Given the description of an element on the screen output the (x, y) to click on. 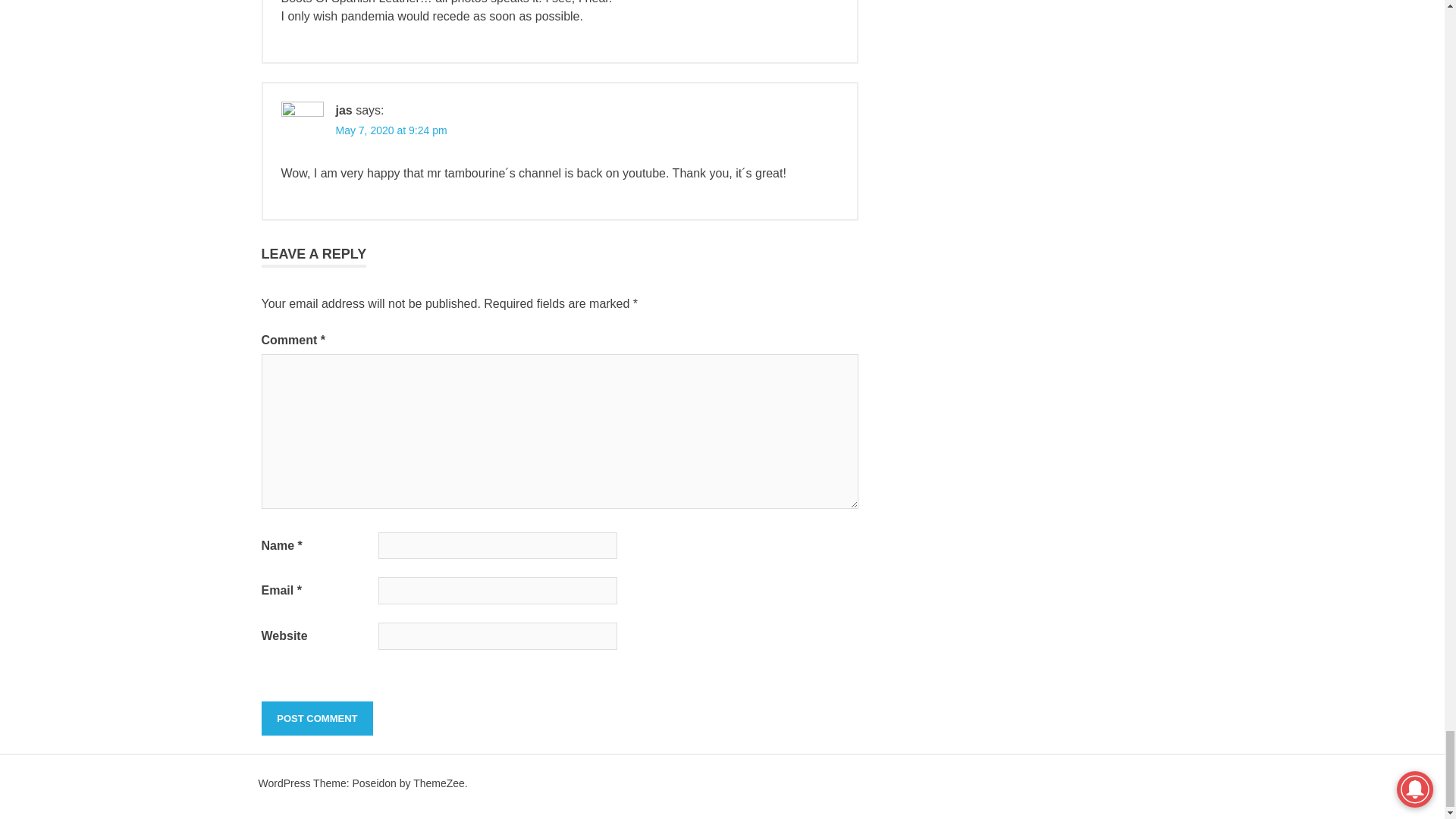
Post Comment (316, 718)
Post Comment (316, 718)
May 7, 2020 at 9:24 pm (390, 130)
